Given the description of an element on the screen output the (x, y) to click on. 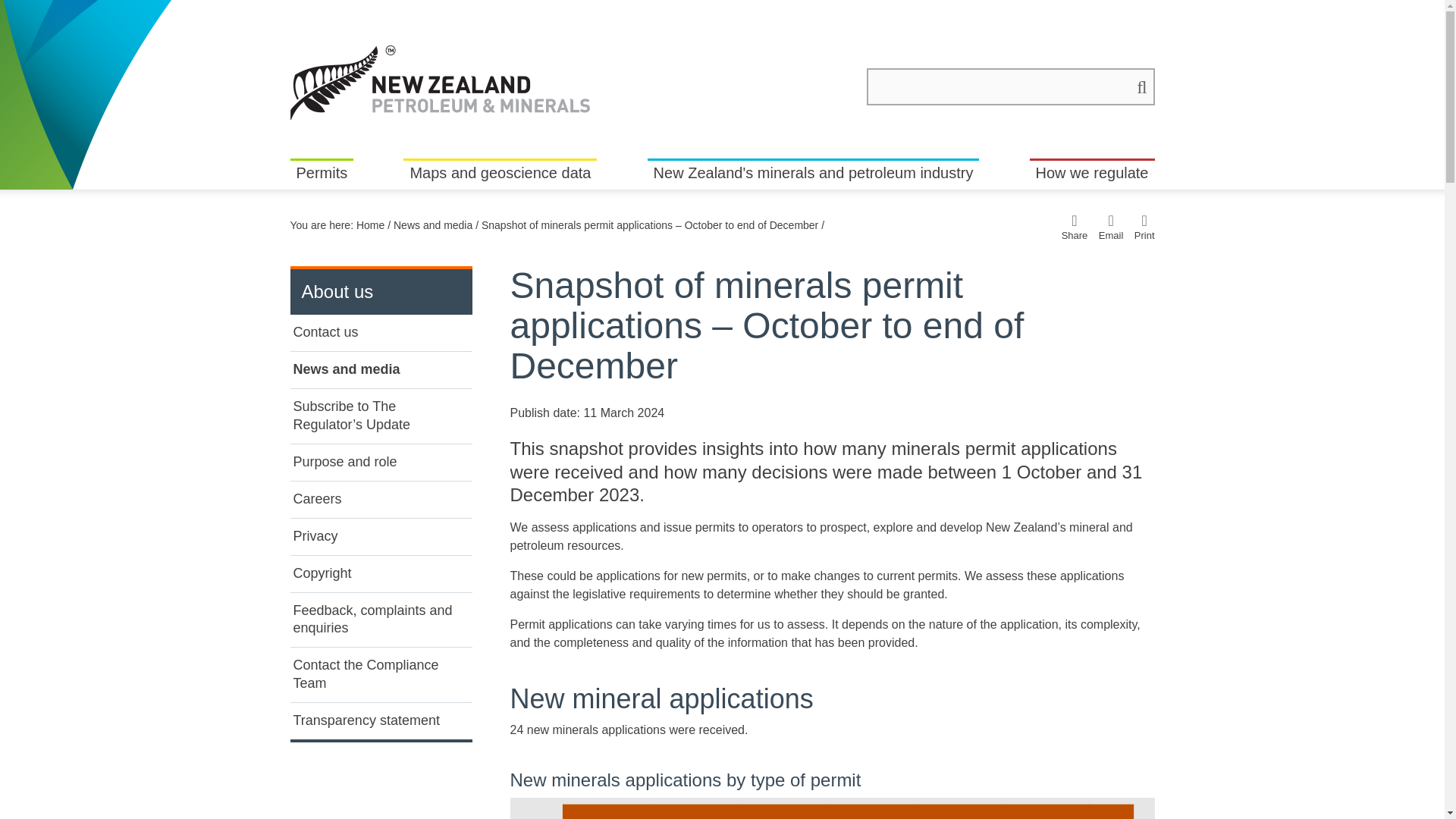
Link to home page (439, 82)
Email this page via local email client (1111, 226)
Permits (321, 173)
Share this page via social media (1074, 226)
